Given the description of an element on the screen output the (x, y) to click on. 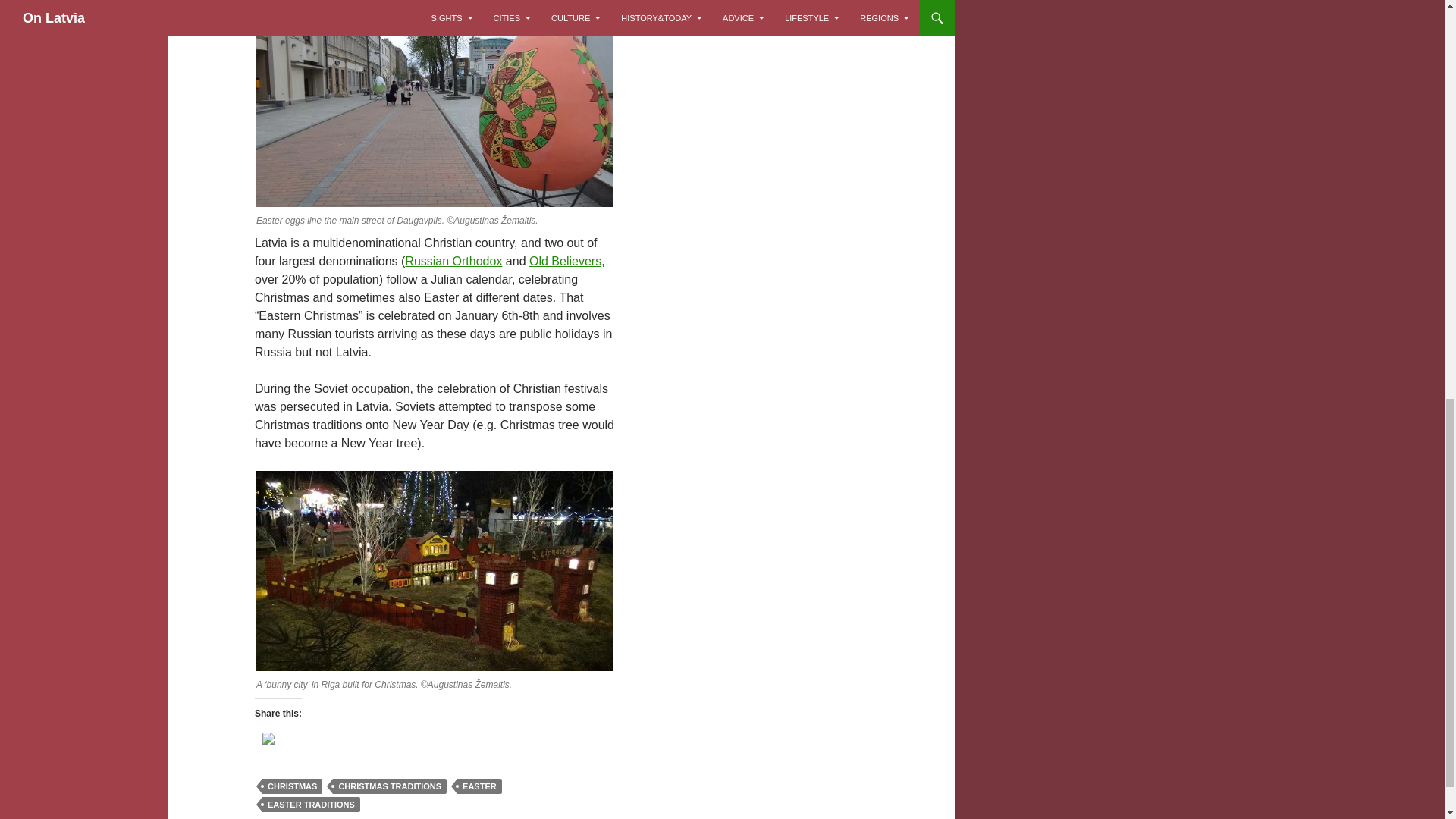
Easter eggs line the main street of Daugavpils (434, 106)
A 'bunny city' in Riga built for Christmas (434, 570)
